Given the description of an element on the screen output the (x, y) to click on. 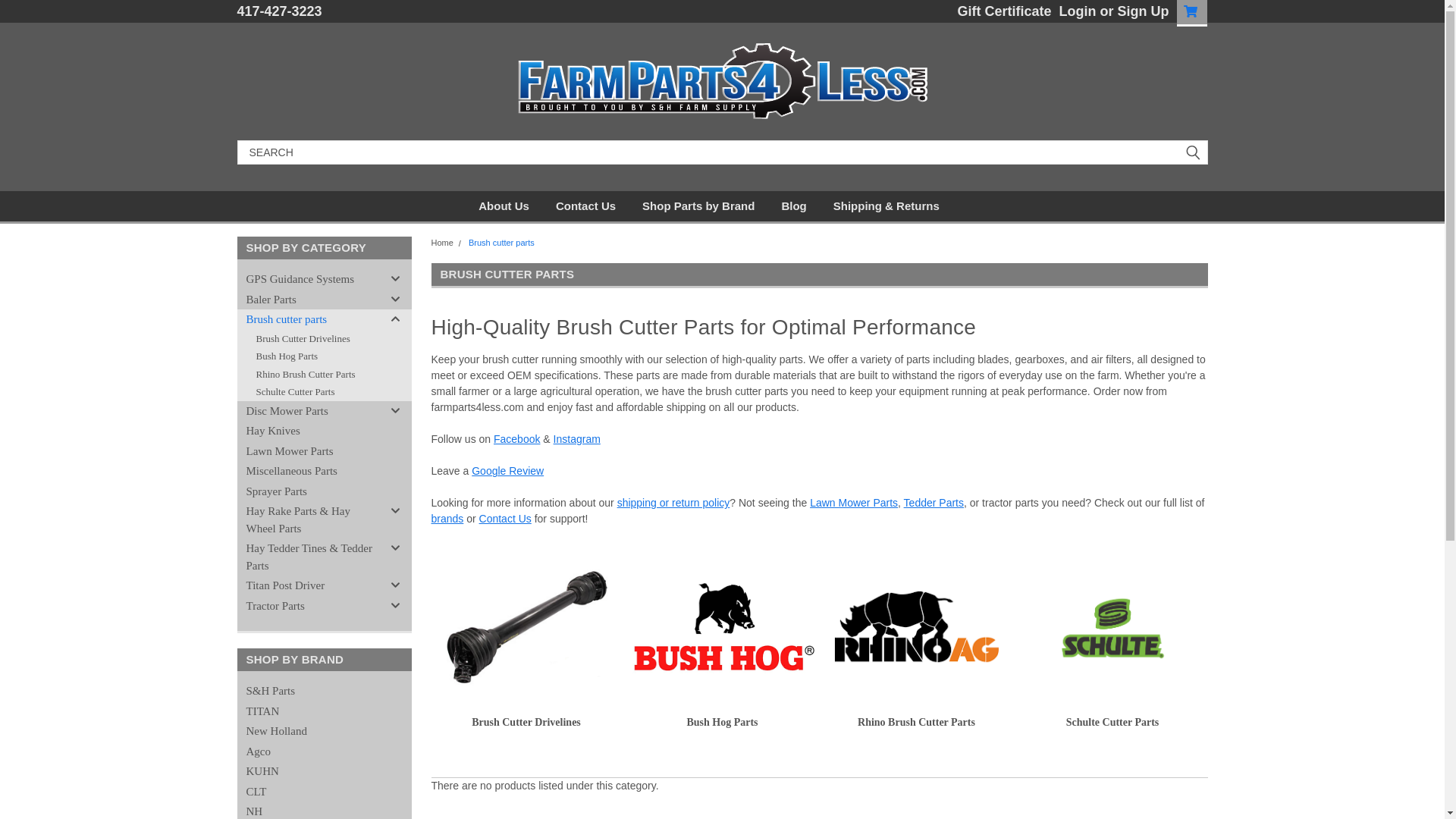
submit (1192, 151)
Sign Up (1141, 11)
Login (1077, 11)
Gift Certificate (1000, 11)
